Given the description of an element on the screen output the (x, y) to click on. 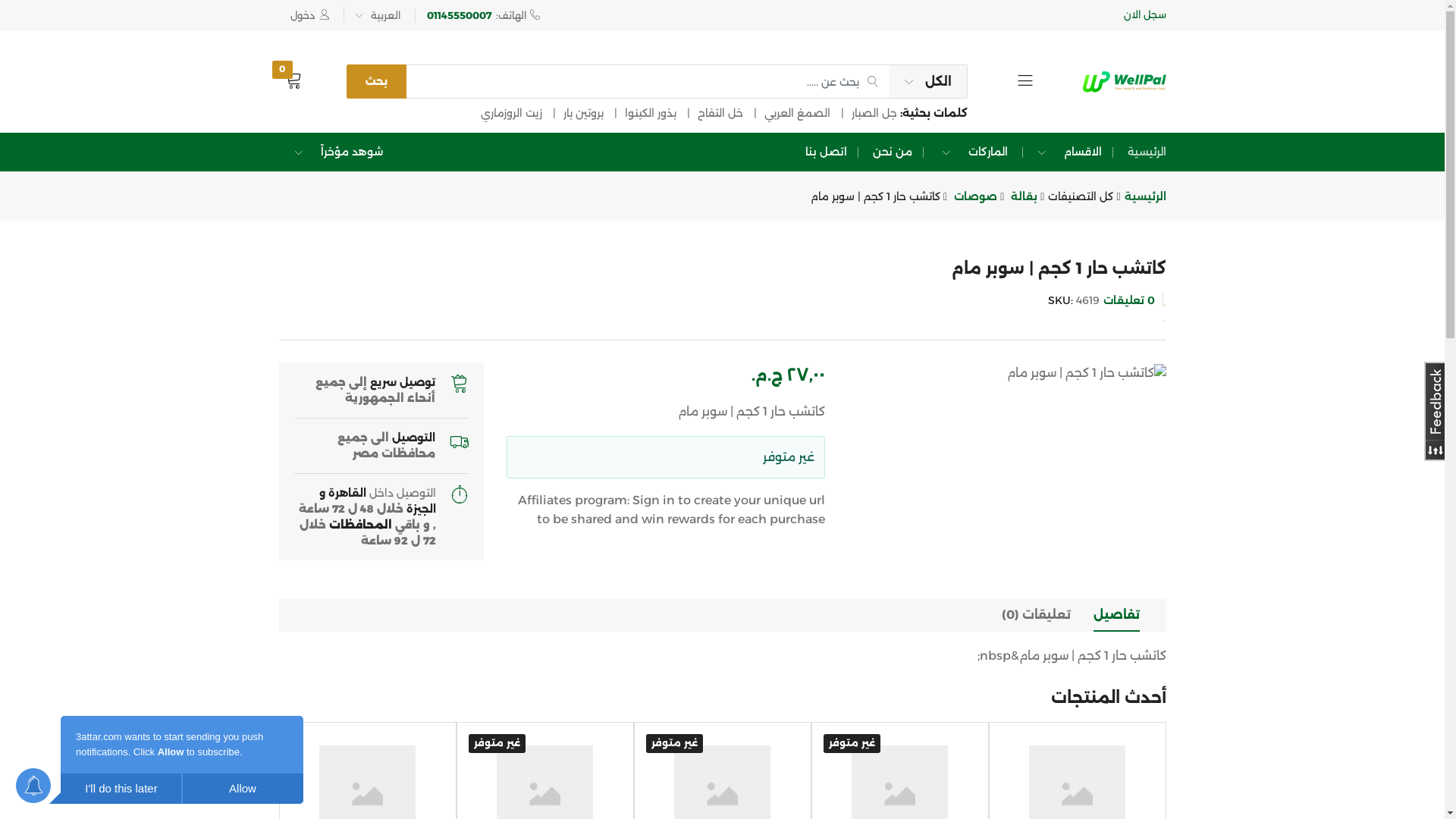
0 Element type: text (293, 80)
webpush-bubble Element type: hover (159, 759)
Sign in Element type: text (653, 499)
